Given the description of an element on the screen output the (x, y) to click on. 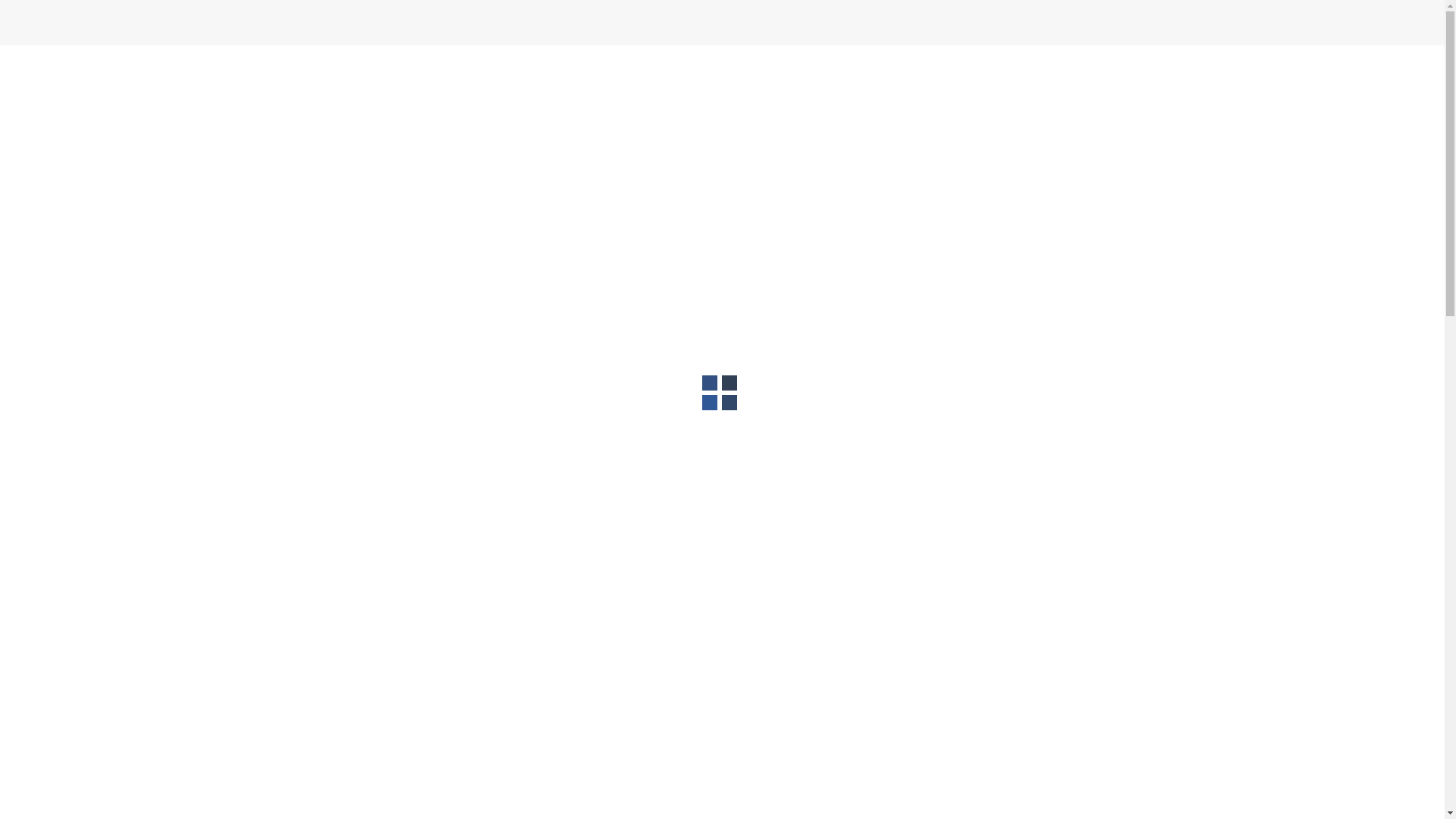
Share on Twitter (944, 408)
Events (476, 223)
CONTACT US (1025, 86)
Share on Facebook (917, 408)
Follow us on Facebook (917, 271)
NEWSLETTER (1111, 86)
HOME (722, 86)
August 14, 2019 (357, 223)
ABOUT US (779, 86)
Check out our instagram feed (972, 271)
